Given the description of an element on the screen output the (x, y) to click on. 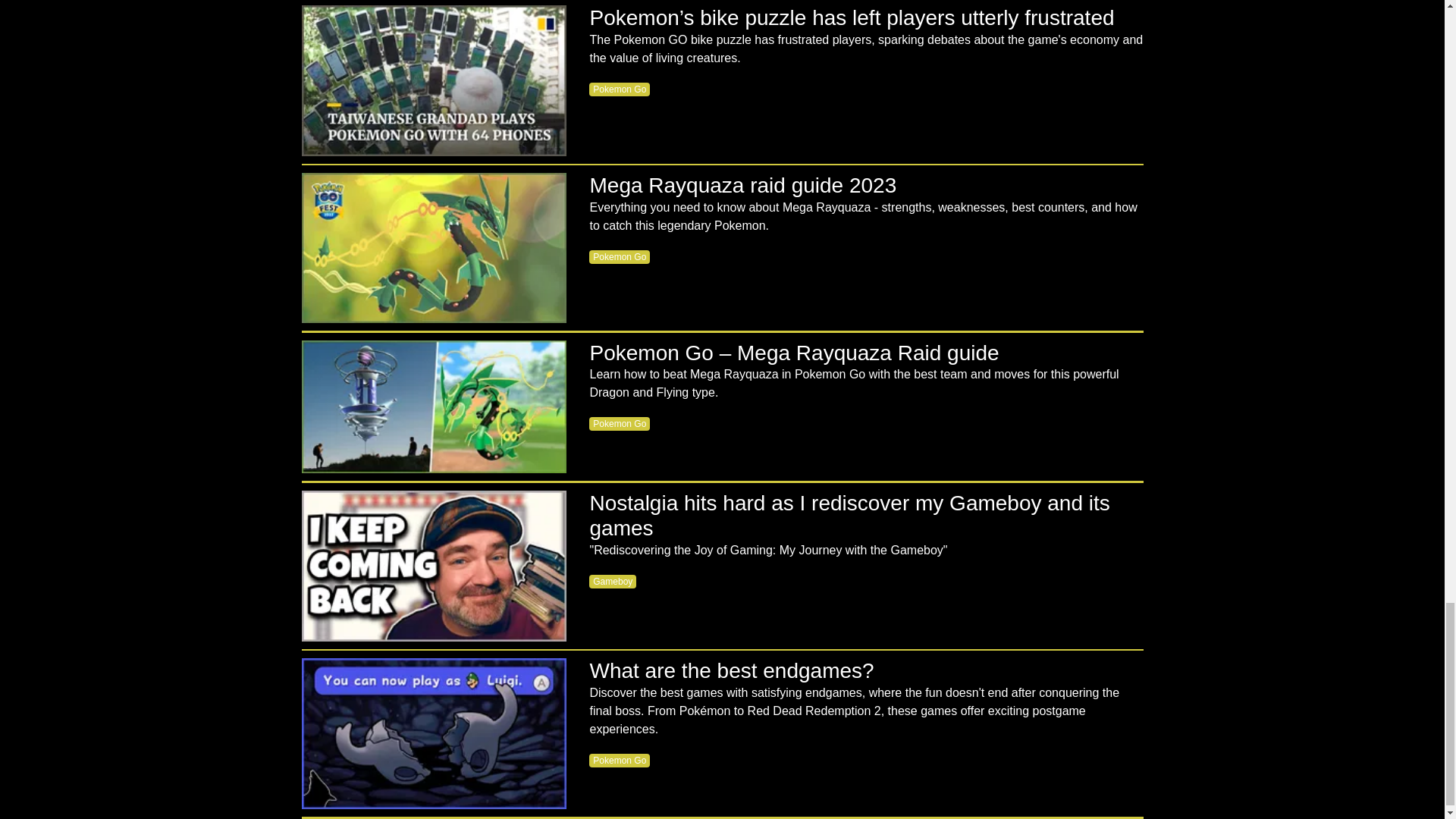
Pokemon Go (619, 423)
Gameboy (612, 581)
Pokemon Go (619, 89)
Pokemon Go (619, 256)
